Given the description of an element on the screen output the (x, y) to click on. 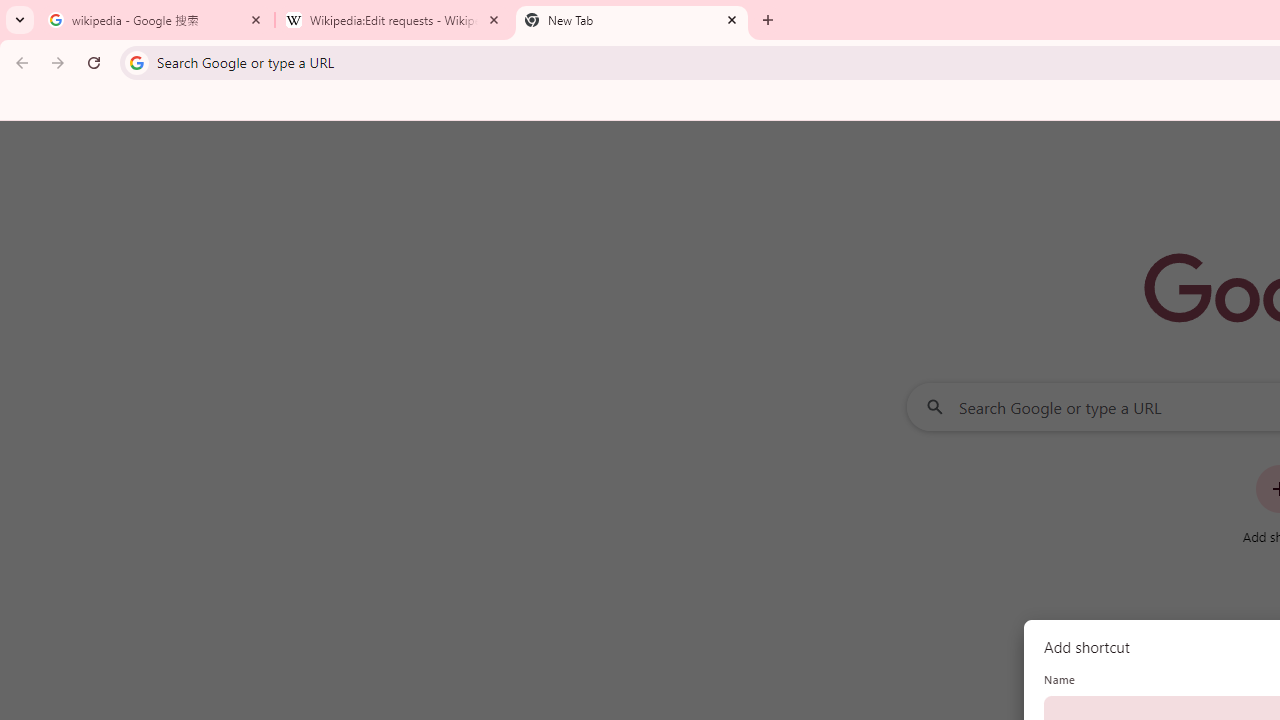
New Tab (632, 20)
Wikipedia:Edit requests - Wikipedia (394, 20)
